Given the description of an element on the screen output the (x, y) to click on. 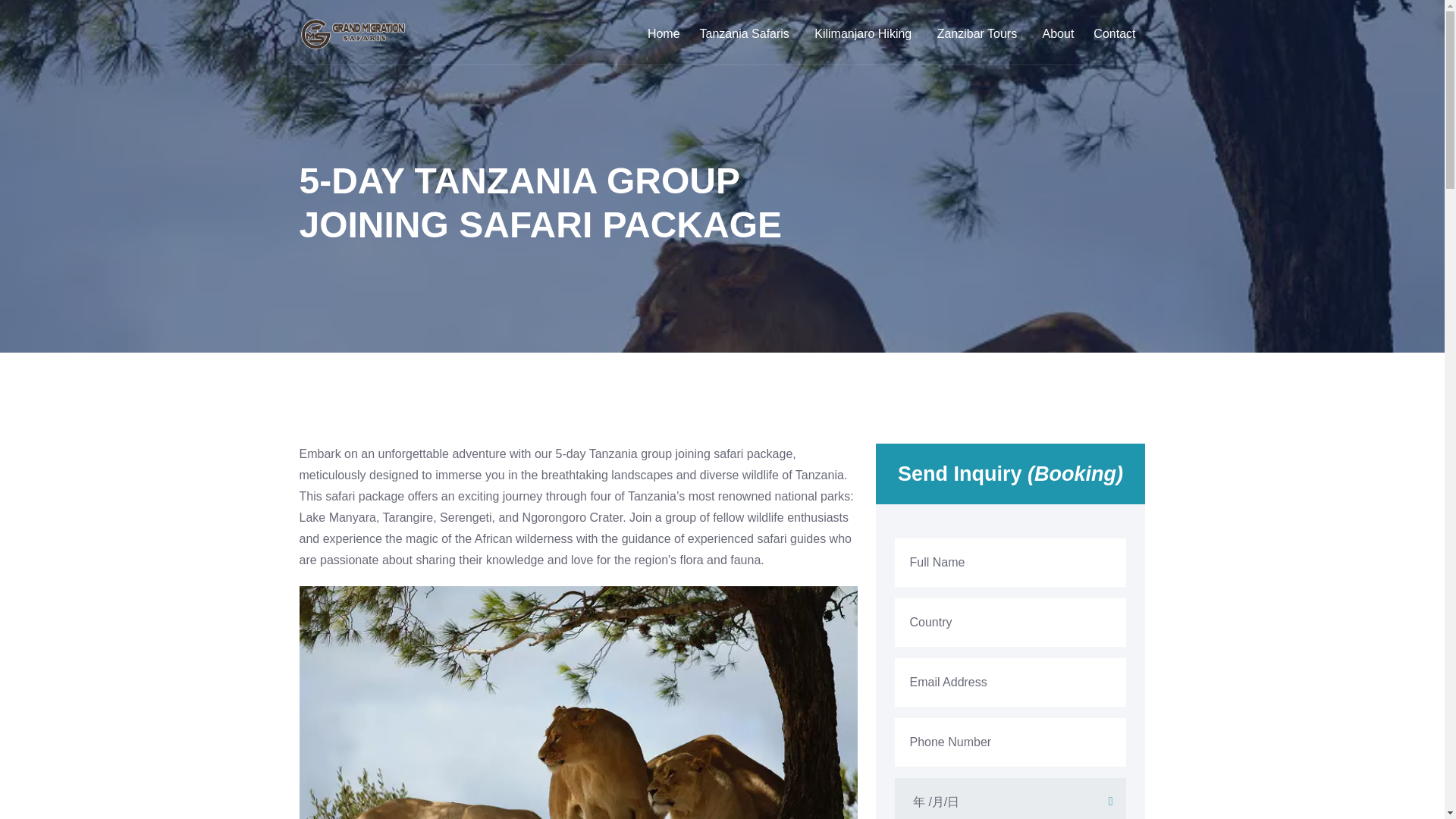
Zanzibar Tours (980, 32)
Home (663, 32)
Tanzania Safaris (747, 32)
About (1058, 32)
Contact (1114, 32)
Kilimanjaro Hiking (865, 32)
